Given the description of an element on the screen output the (x, y) to click on. 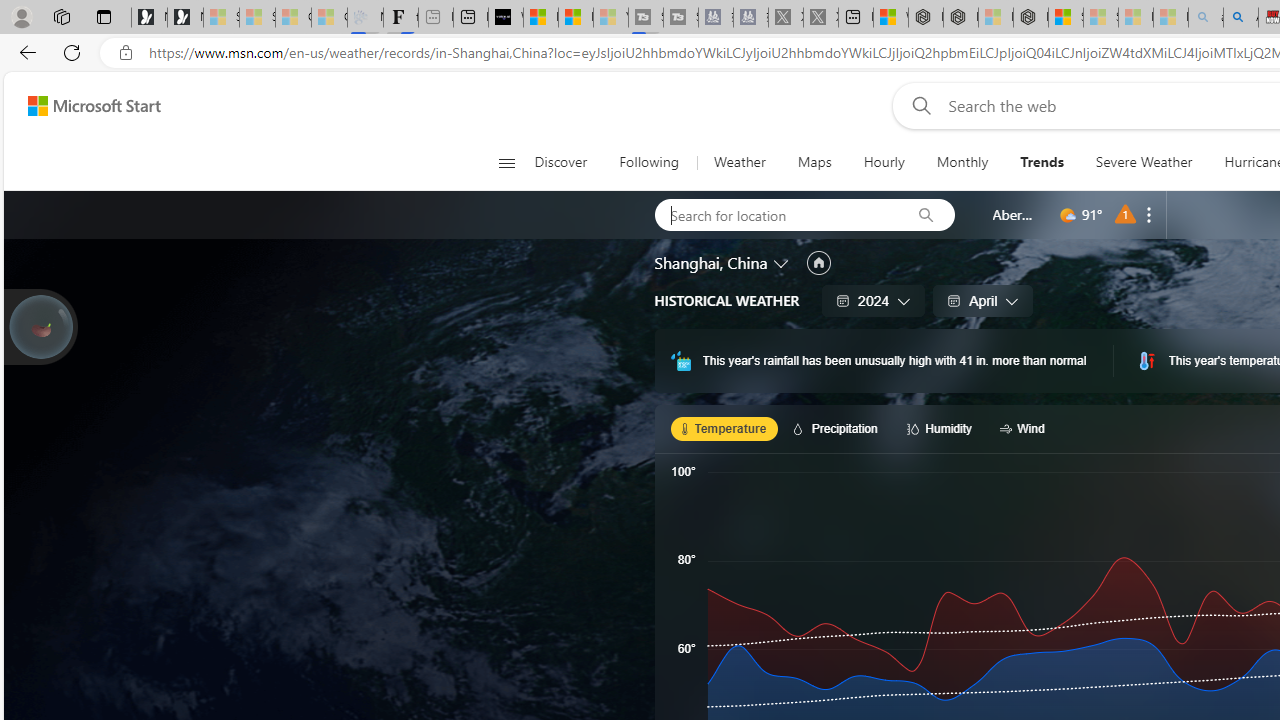
Monthly (962, 162)
Precipitation (838, 428)
Nordace - Nordace Siena Is Not An Ordinary Backpack (1030, 17)
Humidity (942, 428)
Aberdeen (1014, 214)
Set as primary location (818, 263)
